Given the description of an element on the screen output the (x, y) to click on. 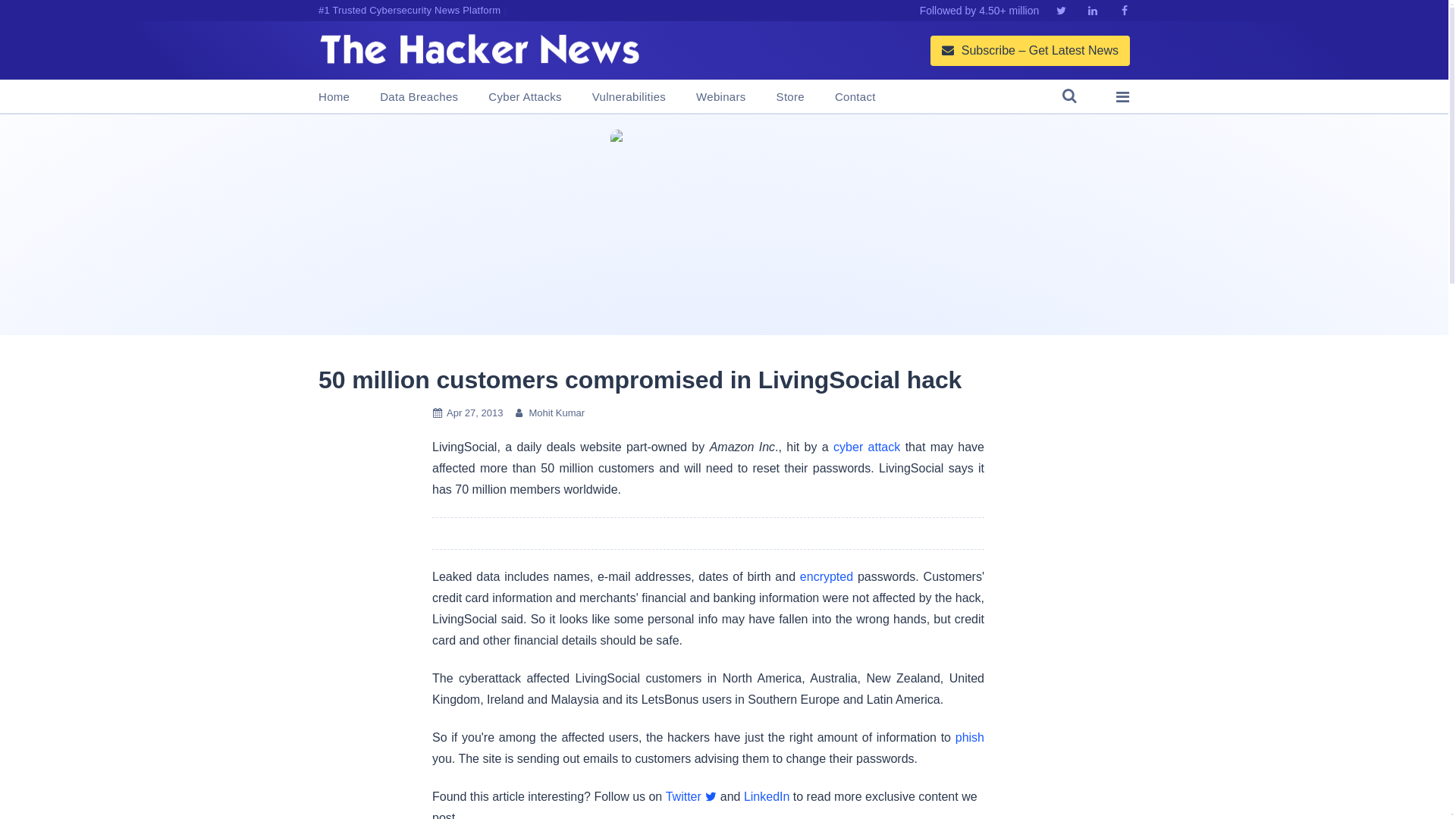
cyber attack (865, 446)
Data Breaches (419, 96)
phish (969, 737)
Home (333, 96)
Vulnerabilities (628, 96)
Cyber Attacks (523, 96)
50 million customers compromised in LivingSocial hack (639, 379)
Contact (855, 96)
encrypted (826, 576)
Webinars (720, 96)
